Given the description of an element on the screen output the (x, y) to click on. 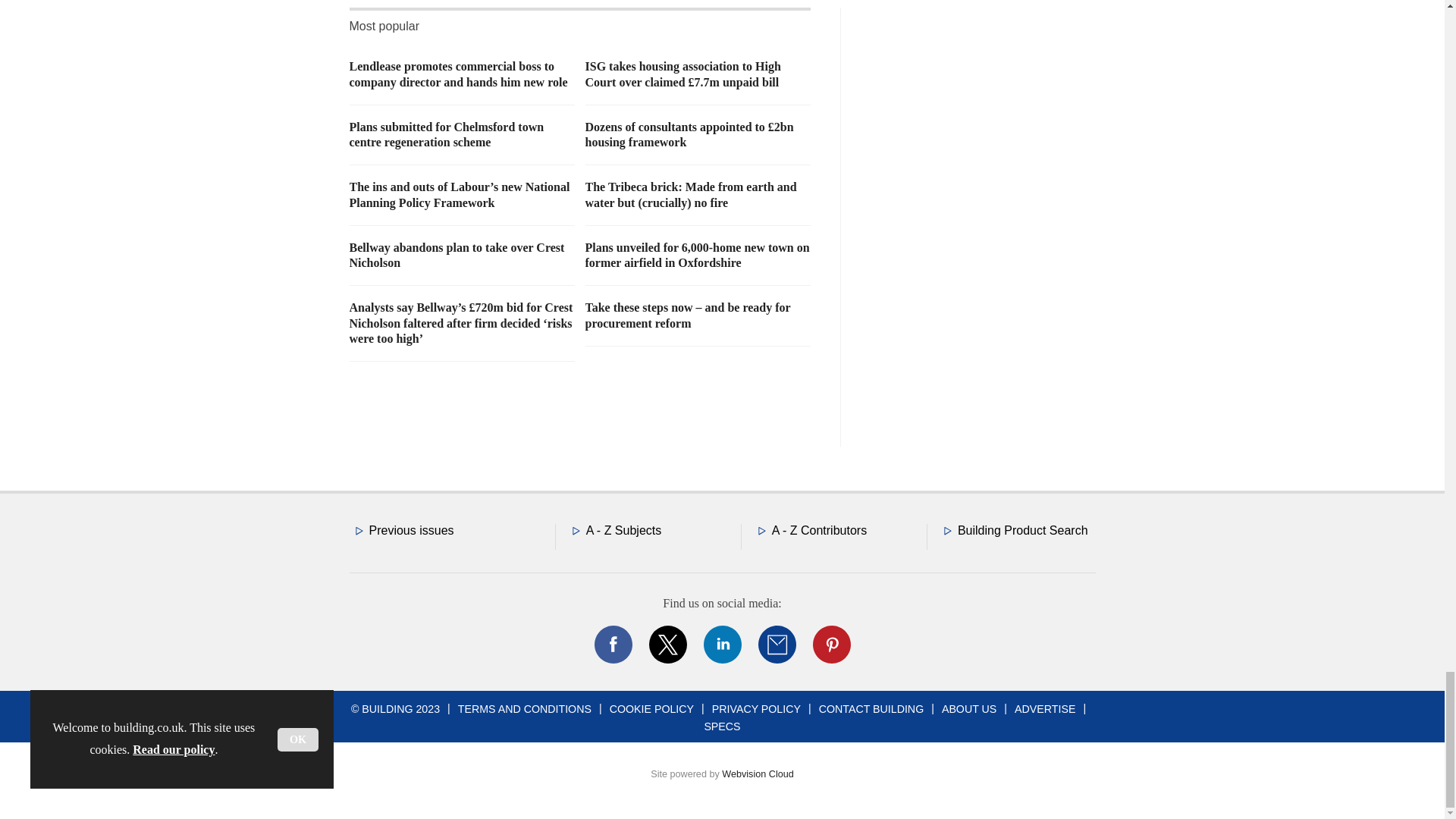
Connect with us on Pinterest (830, 644)
Connect with us on Facebook (611, 644)
Email us (776, 644)
Connect with us on Linked in (721, 644)
Connect with us on Twitter (667, 644)
